Given the description of an element on the screen output the (x, y) to click on. 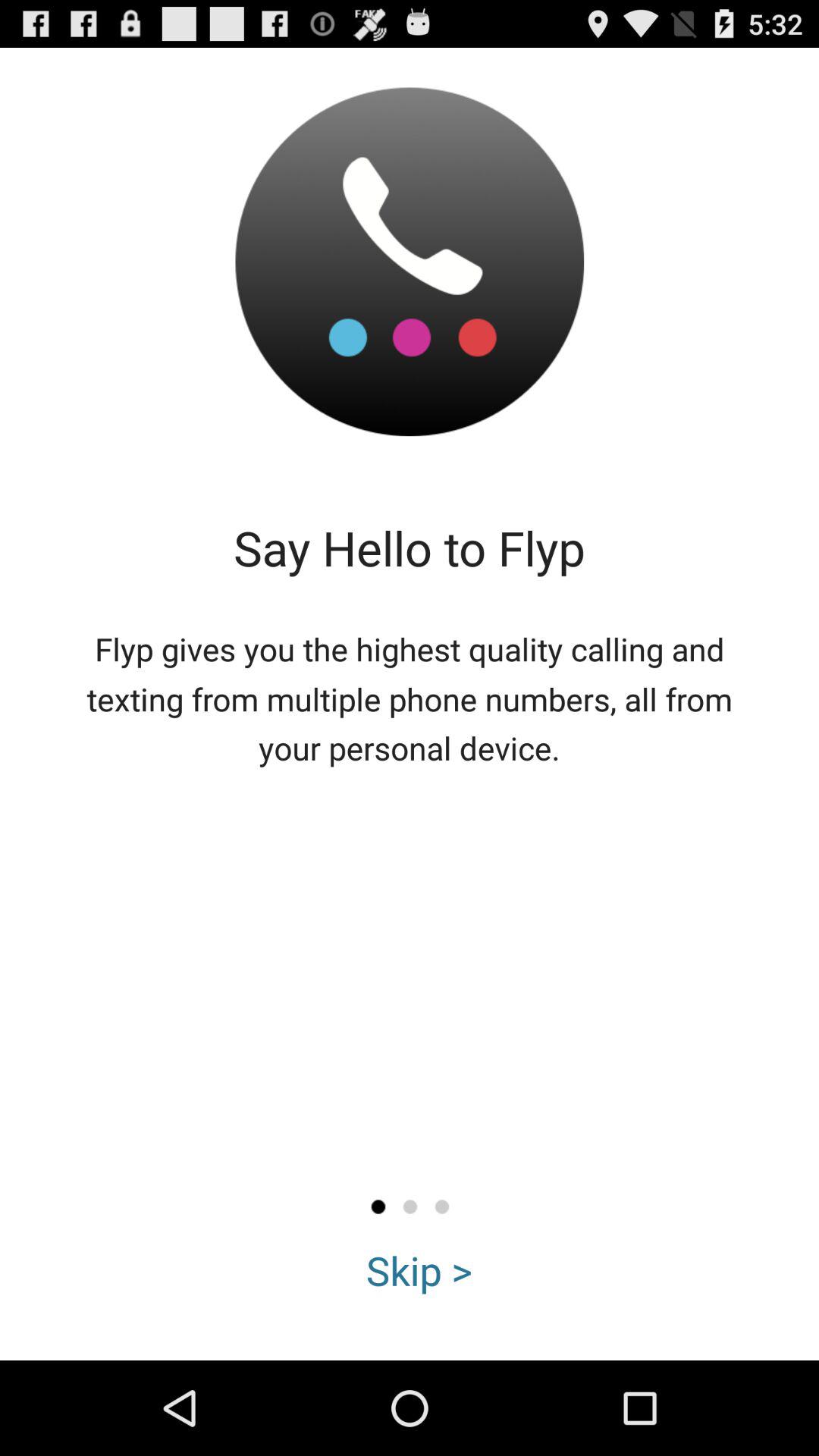
jump to skip > icon (419, 1269)
